Given the description of an element on the screen output the (x, y) to click on. 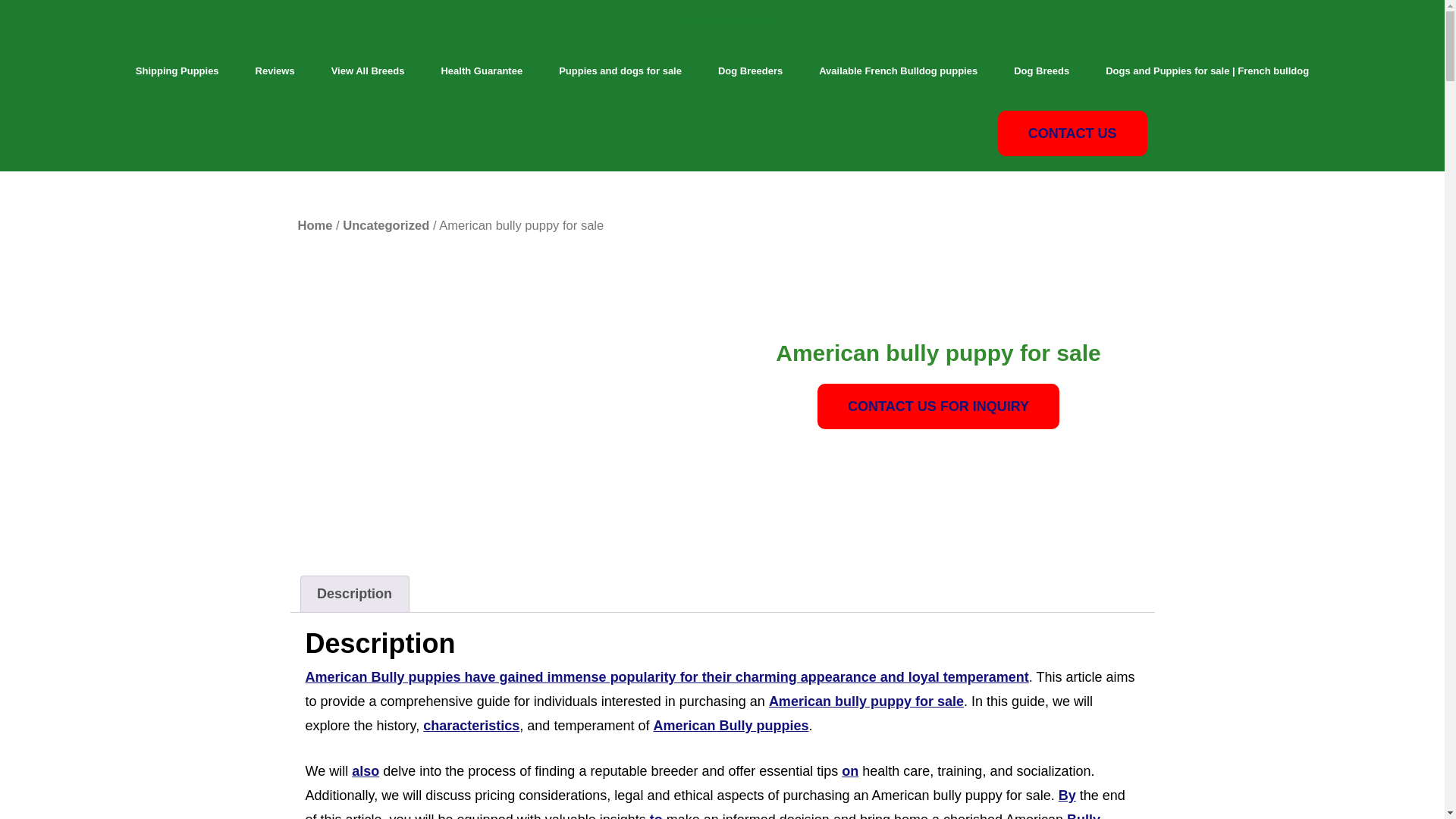
CONTACT US (1072, 133)
Description (353, 593)
Puppies and dogs for sale (620, 70)
American bully puppy for sale (865, 701)
on (850, 770)
View All Breeds (368, 70)
Uncategorized (385, 225)
Home (314, 225)
to (655, 815)
